Given the description of an element on the screen output the (x, y) to click on. 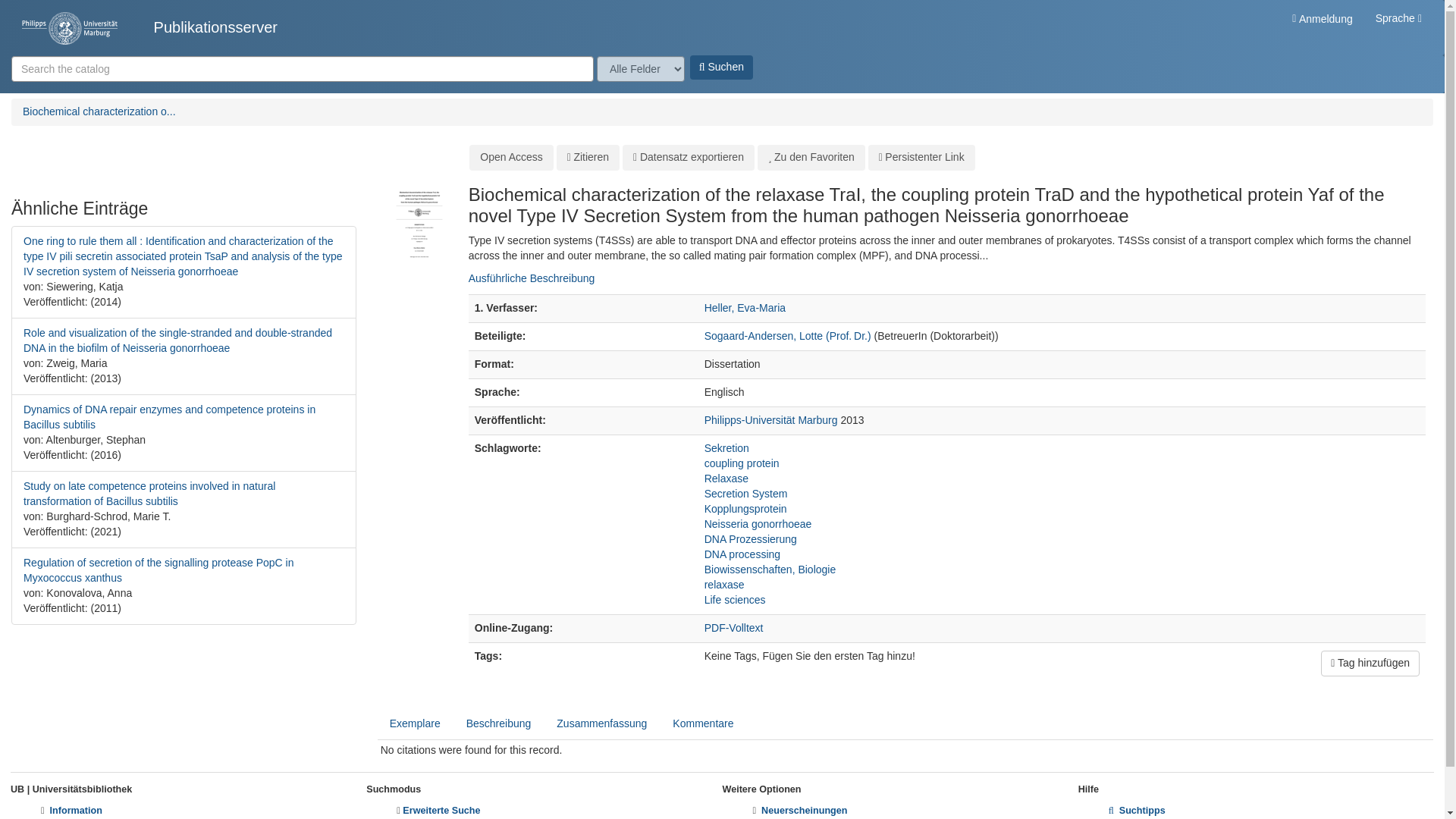
Kopplungsprotein (745, 508)
Sprache (1398, 18)
DNA Prozessierung (750, 539)
Secretion System (745, 493)
DNA processing (742, 553)
relaxase (724, 584)
Weiter zum Inhalt (41, 7)
Publikationsserver (149, 27)
Sekretion (726, 448)
Relaxase (726, 478)
Biowissenschaften, Biologie (769, 569)
Anmeldung (1321, 18)
Neisseria gonorrhoeae (758, 523)
coupling protein (741, 463)
Life sciences (734, 599)
